Given the description of an element on the screen output the (x, y) to click on. 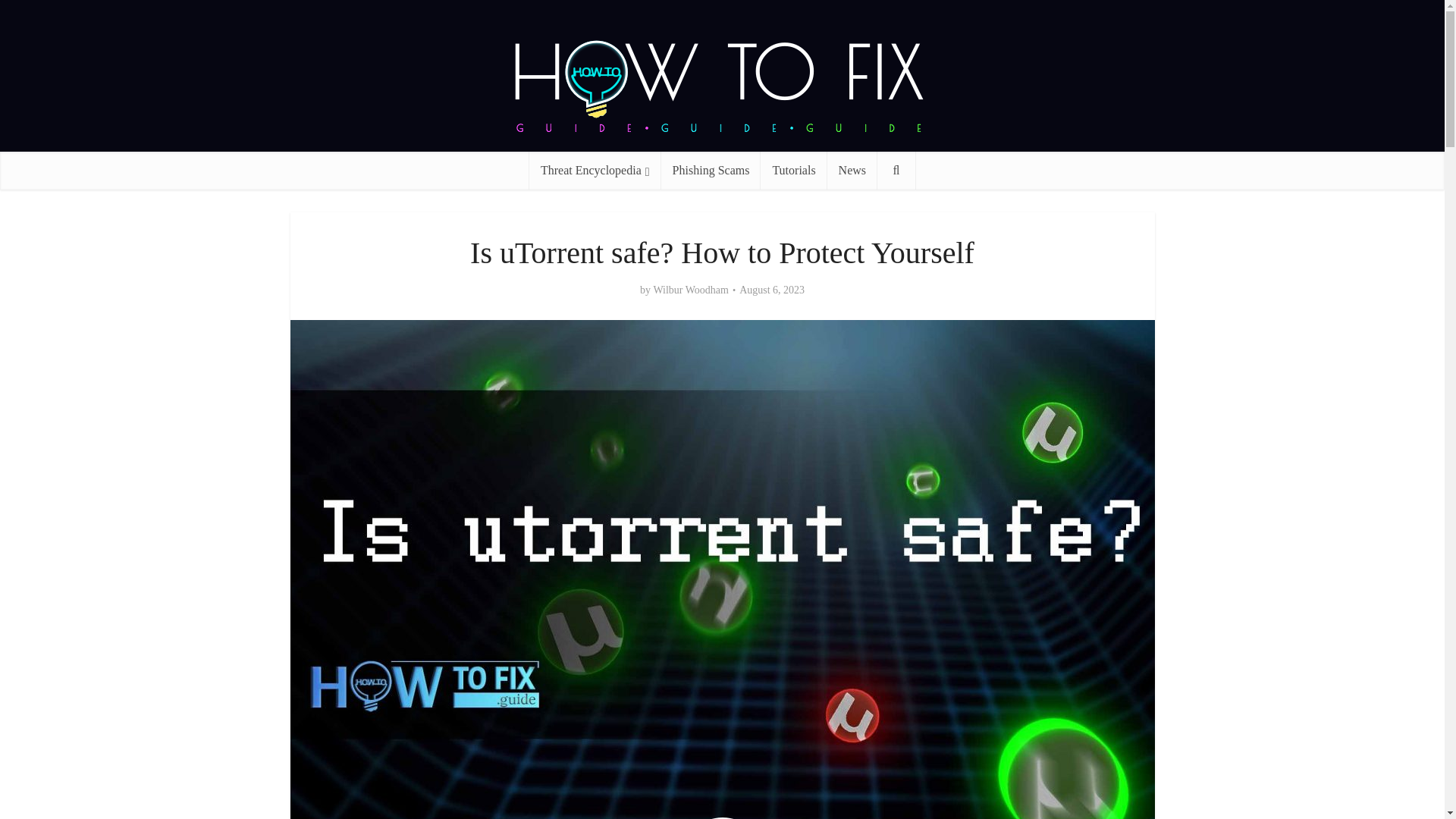
Tutorials (793, 170)
News (852, 170)
Phishing Scams (711, 170)
Wilbur Woodham (690, 290)
Threat Encyclopedia (595, 170)
